Given the description of an element on the screen output the (x, y) to click on. 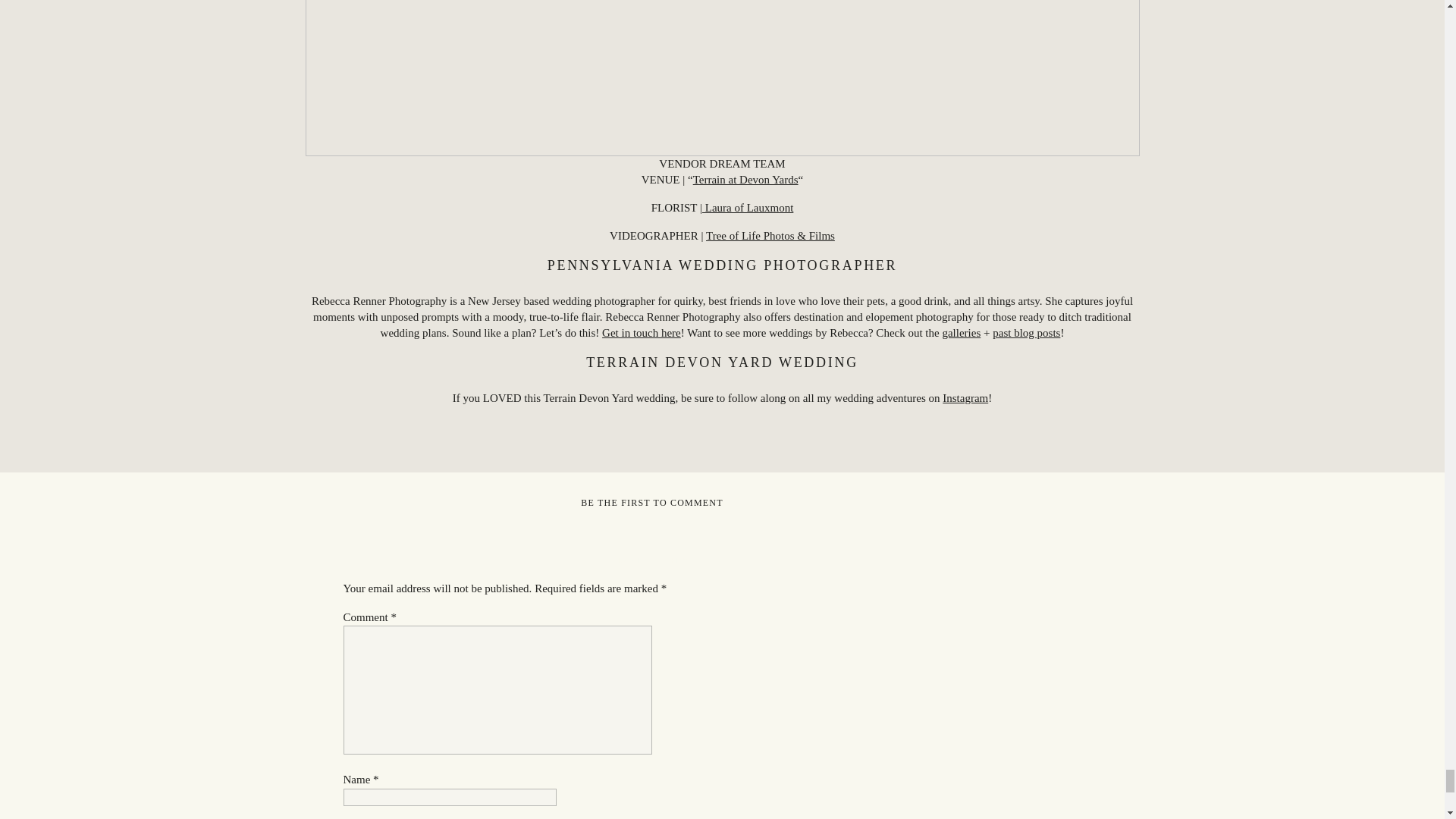
Laura of Lauxmont (747, 207)
Terrain at Devon Yards (745, 179)
past blog posts (1025, 332)
galleries (960, 332)
Get in touch here (641, 332)
BE THE FIRST TO COMMENT (651, 502)
Instagram (965, 398)
